Given the description of an element on the screen output the (x, y) to click on. 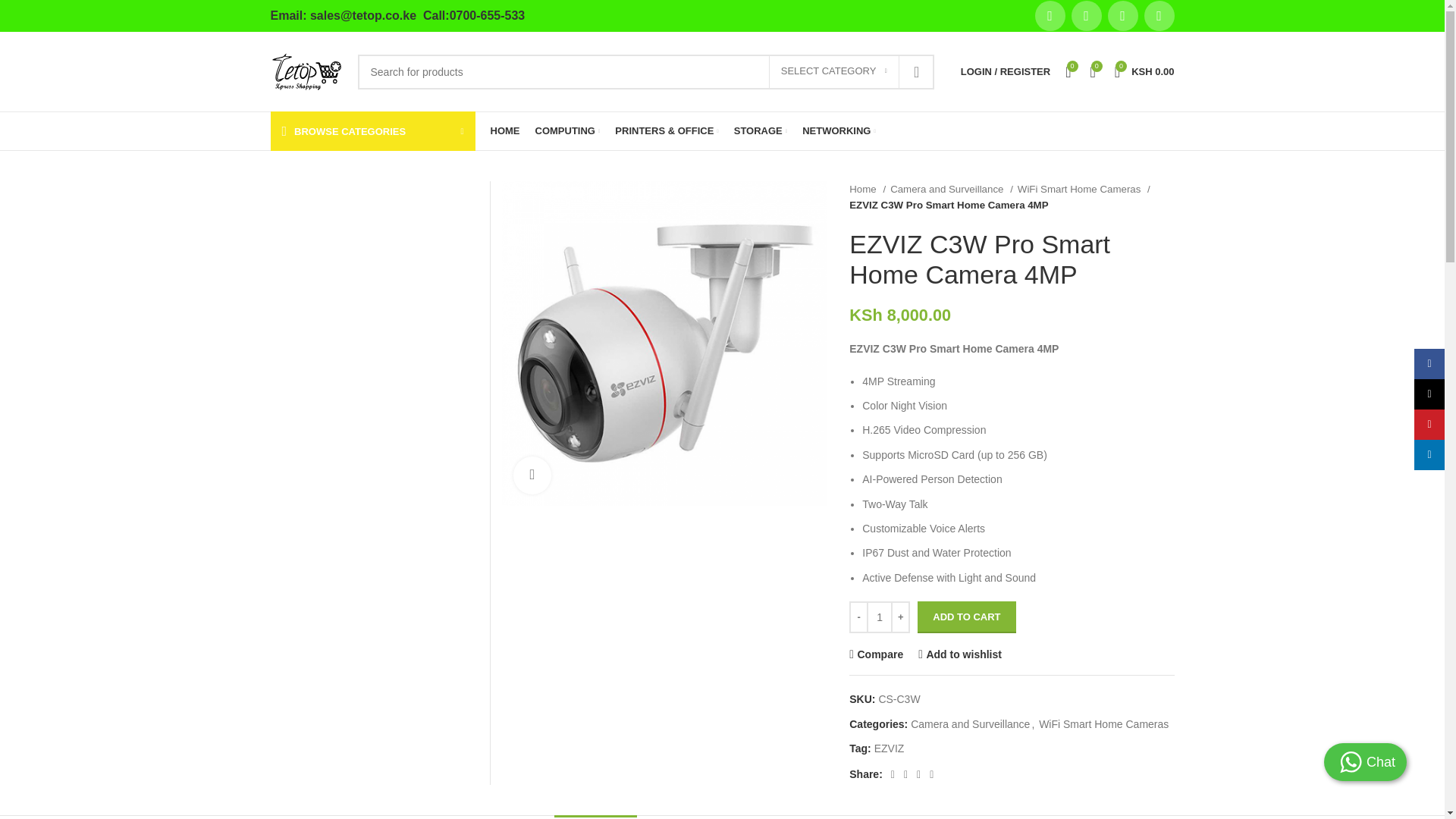
SELECT CATEGORY (833, 71)
My account (1005, 71)
Search for products (646, 71)
EZVIZ C3W Pro Smart Home Camera 4MP (664, 343)
SELECT CATEGORY (833, 71)
Shopping cart (1144, 71)
